Given the description of an element on the screen output the (x, y) to click on. 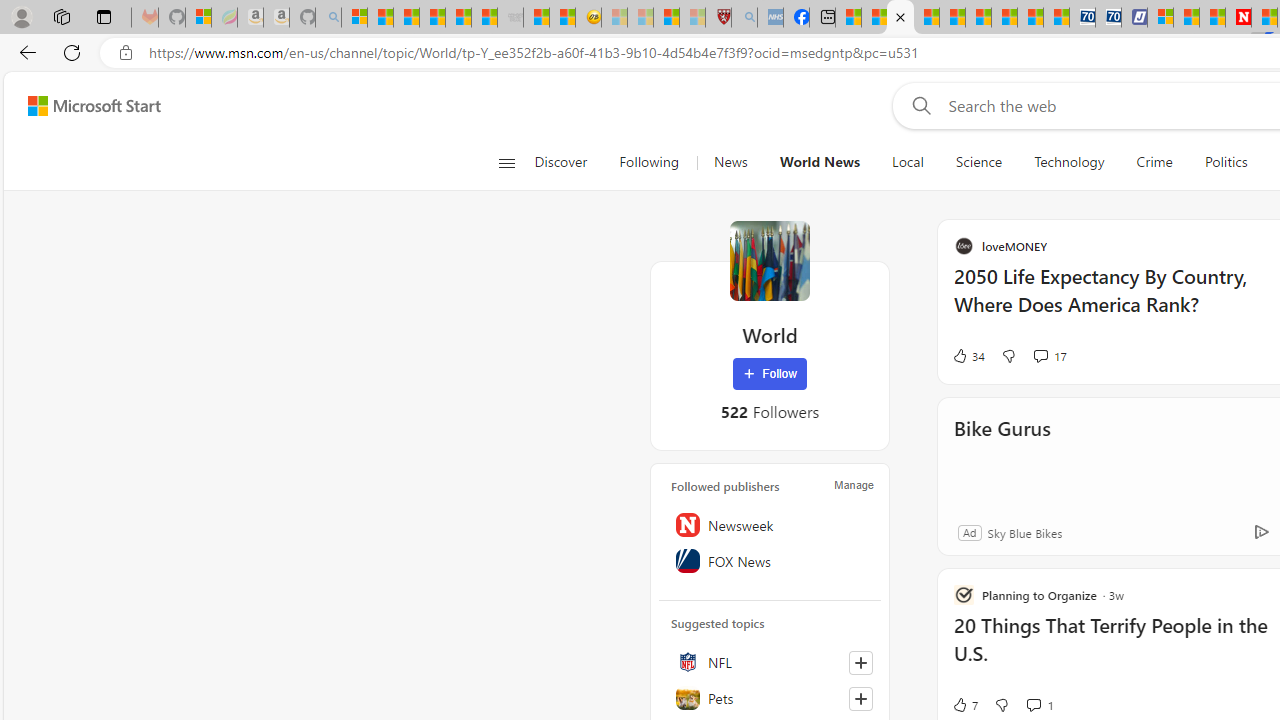
Follow this topic (860, 698)
2050 Life Expectancy By Country, Where Does America Rank? (1115, 300)
